Given the description of an element on the screen output the (x, y) to click on. 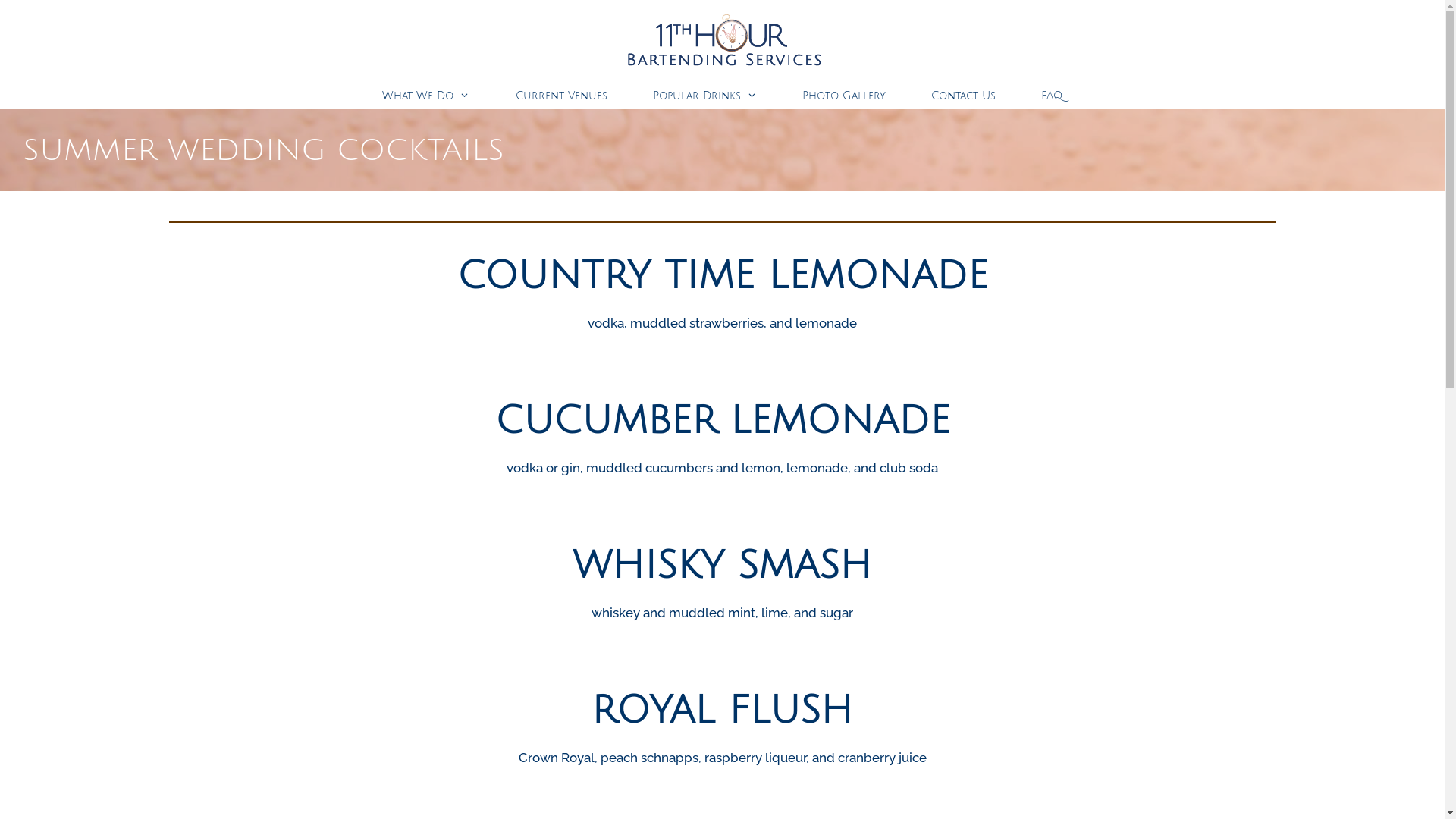
Contact Us Element type: text (963, 95)
11th Hour Bartending Services Element type: hover (724, 41)
11th Hour Bartending Services Element type: hover (724, 39)
Current Venues Element type: text (561, 95)
FAQ Element type: text (1051, 95)
Photo Gallery Element type: text (843, 95)
Popular Drinks Element type: text (703, 95)
What We Do Element type: text (425, 95)
